Given the description of an element on the screen output the (x, y) to click on. 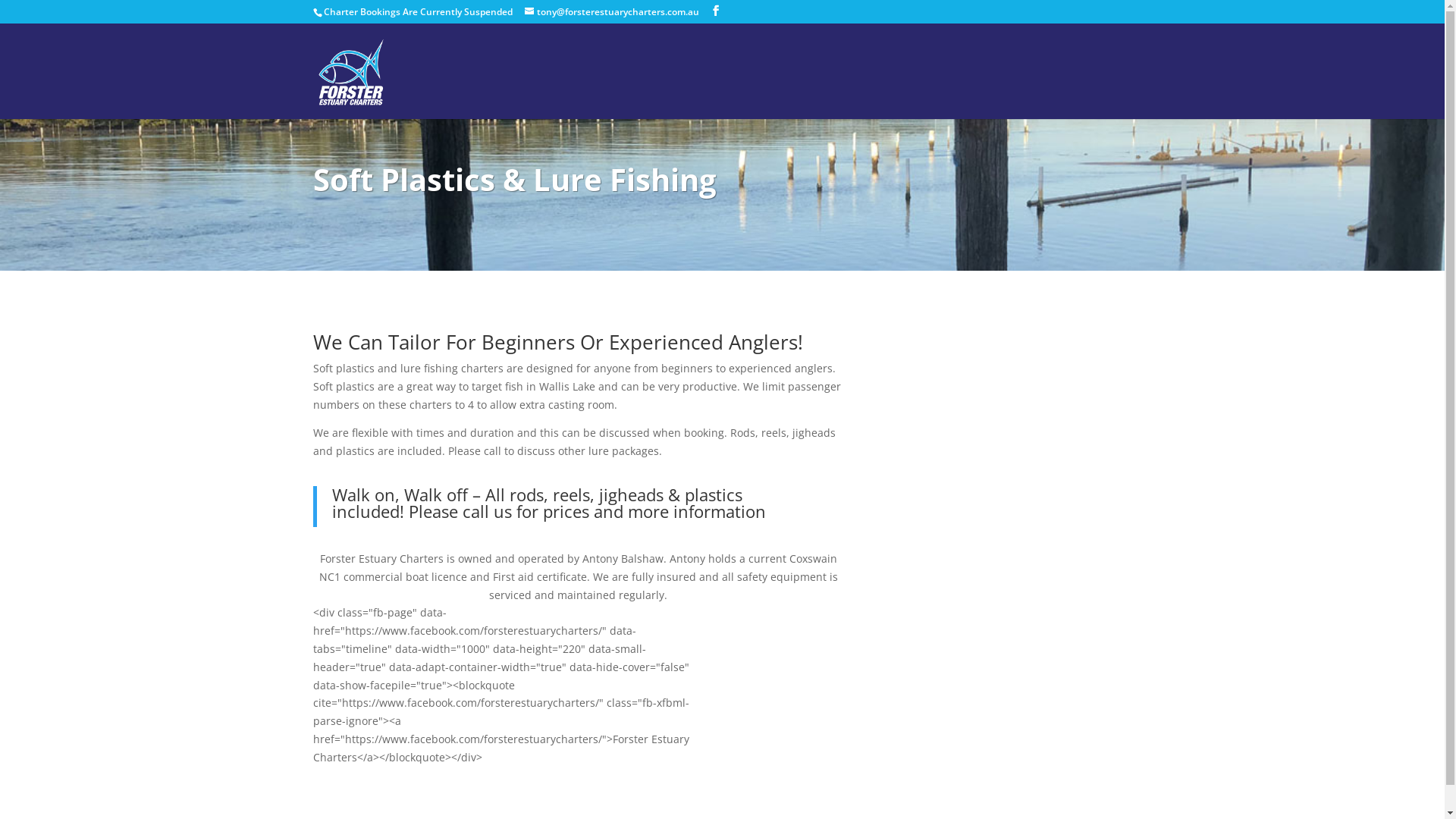
tony@forsterestuarycharters.com.au Element type: text (611, 11)
  Element type: text (1129, 92)
